Given the description of an element on the screen output the (x, y) to click on. 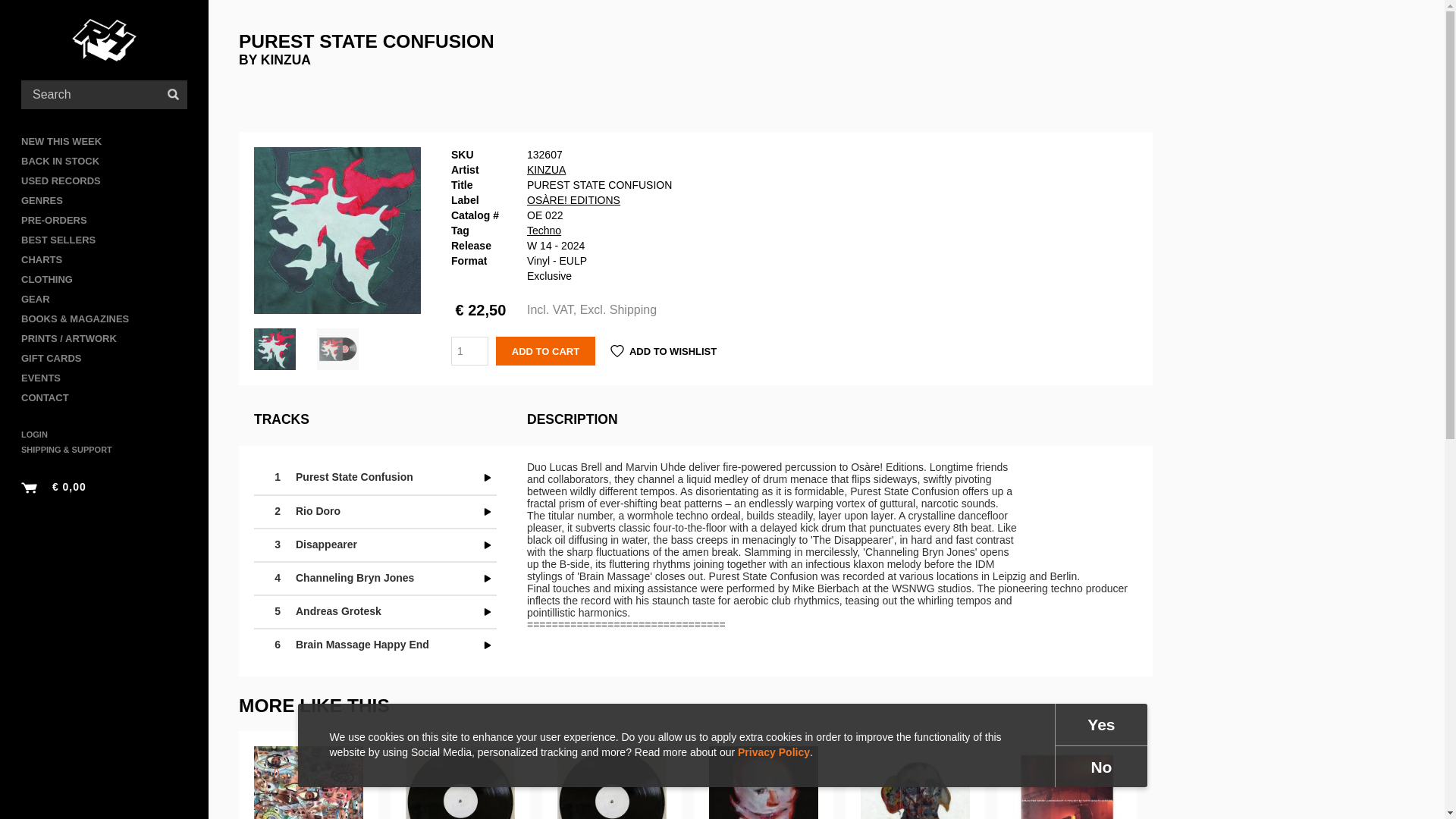
CONTACT (104, 397)
CLOTHING (104, 279)
NEW THIS WEEK (104, 141)
ADD TO CART (545, 350)
CHARTS (104, 260)
USED RECORDS (104, 180)
BEST SELLERS (104, 240)
GENRES (104, 200)
GIFT CARDS (104, 358)
Read more (459, 775)
